Given the description of an element on the screen output the (x, y) to click on. 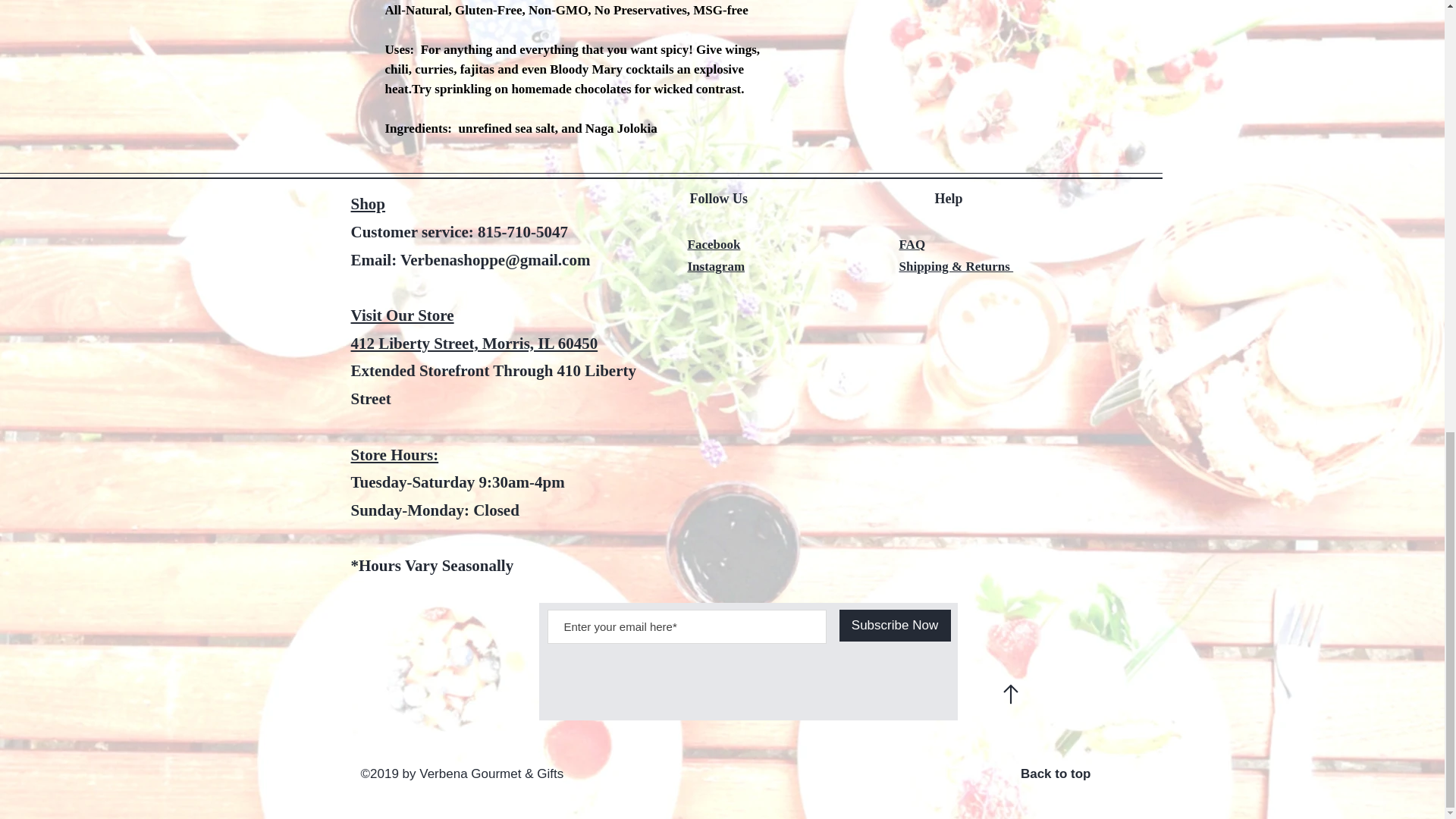
412 Liberty Street, Morris, IL 60450 (473, 343)
Visit Our Store (401, 315)
Shop (367, 203)
Subscribe Now (894, 625)
